Given the description of an element on the screen output the (x, y) to click on. 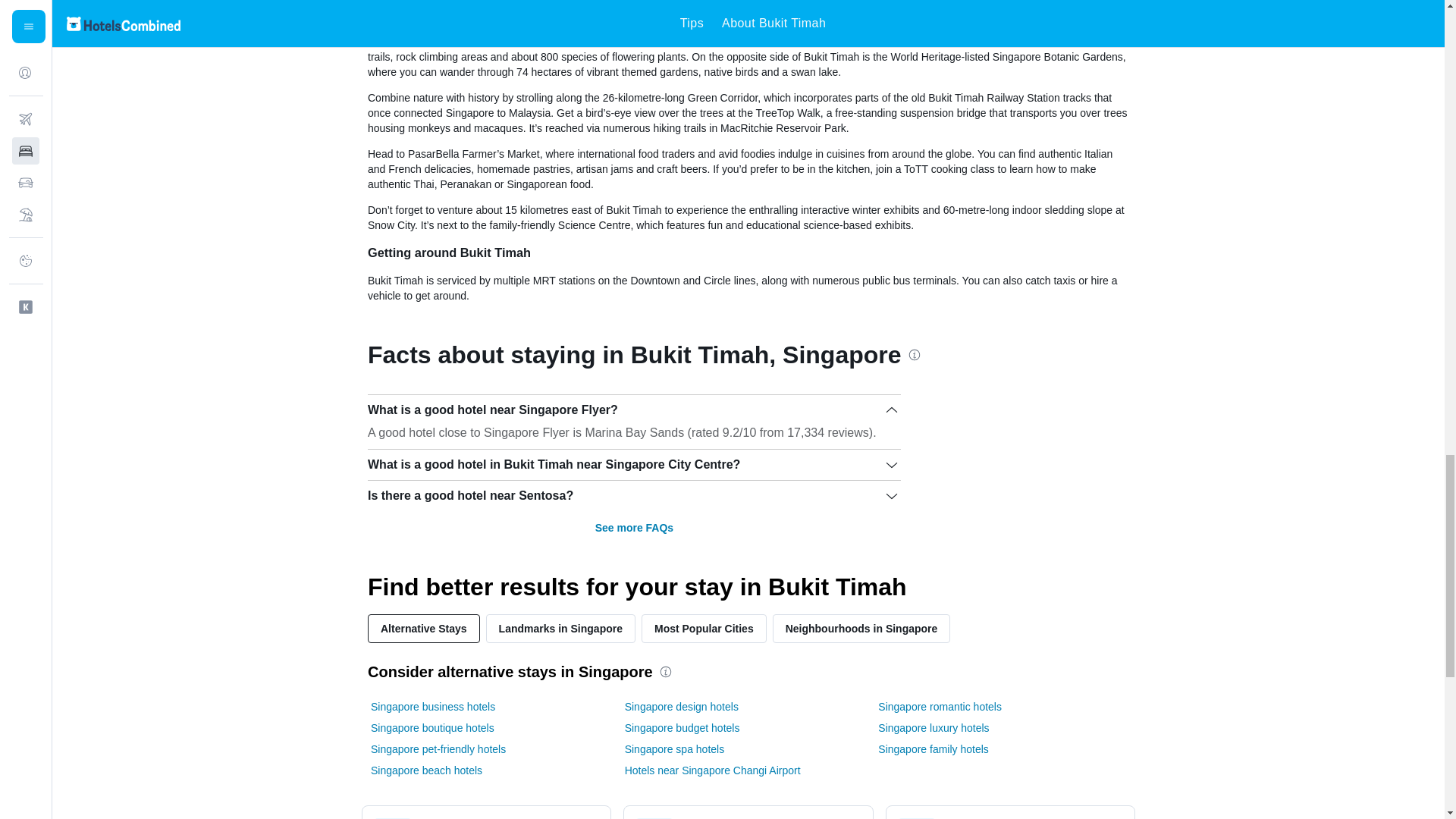
Landmarks in Singapore (560, 628)
Most Popular Cities (704, 628)
Singapore pet-friendly hotels (438, 749)
Singapore business hotels (433, 706)
Singapore family hotels (932, 749)
Hotels near Singapore Changi Airport (712, 770)
Singapore luxury hotels (932, 727)
Neighbourhoods in Singapore (861, 628)
Singapore boutique hotels (433, 727)
Singapore beach hotels (426, 770)
Singapore design hotels (681, 706)
Singapore budget hotels (681, 727)
Singapore spa hotels (674, 749)
Singapore romantic hotels (939, 706)
Alternative Stays (424, 628)
